Given the description of an element on the screen output the (x, y) to click on. 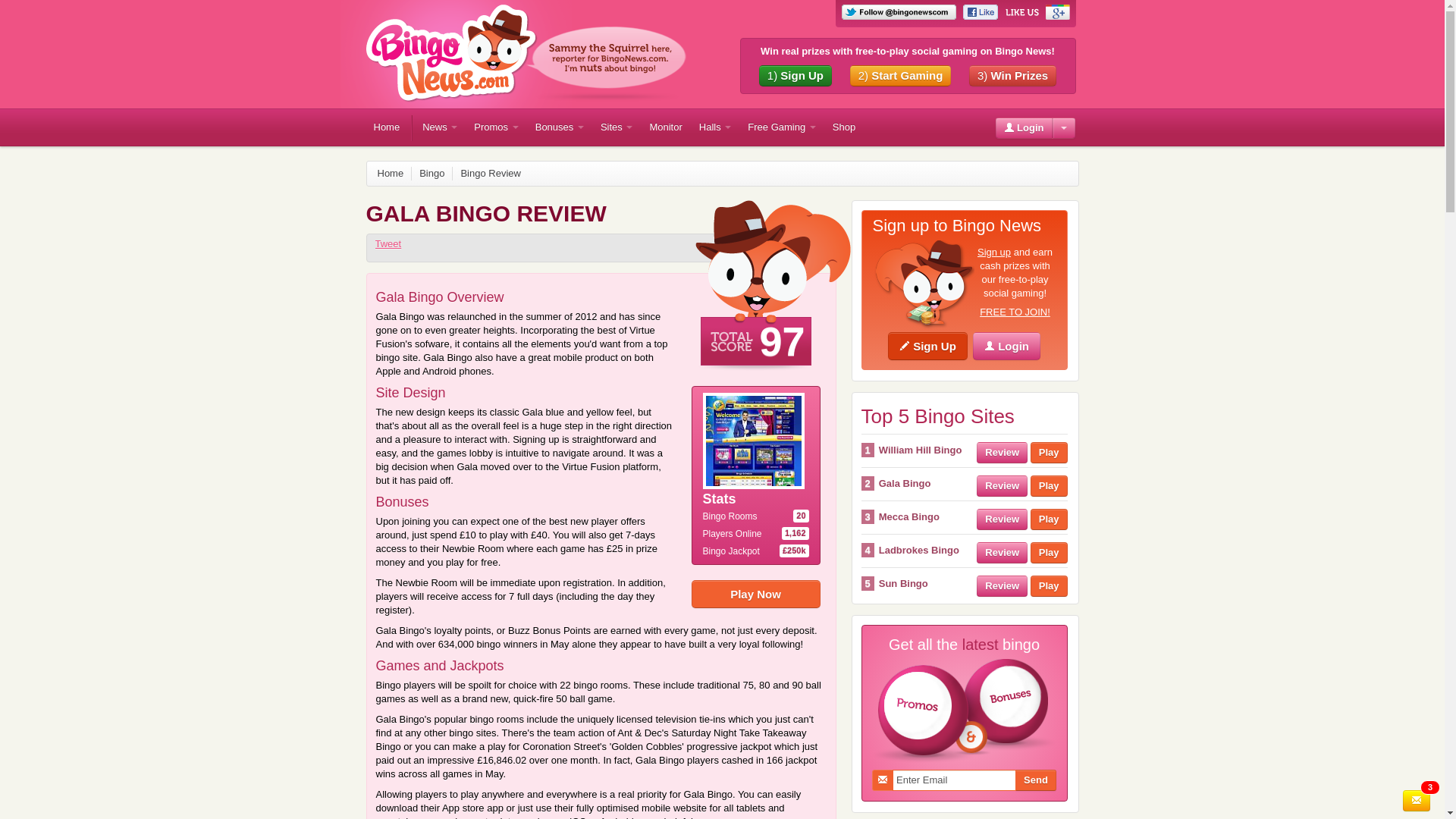
Login (1022, 127)
Bonuses (559, 126)
Monitor (665, 126)
News (439, 126)
Free Gaming (780, 126)
Promos (495, 126)
Home (386, 126)
Enter Email (954, 780)
Sites (616, 126)
Start betting for fun with Sammy! (923, 286)
